Given the description of an element on the screen output the (x, y) to click on. 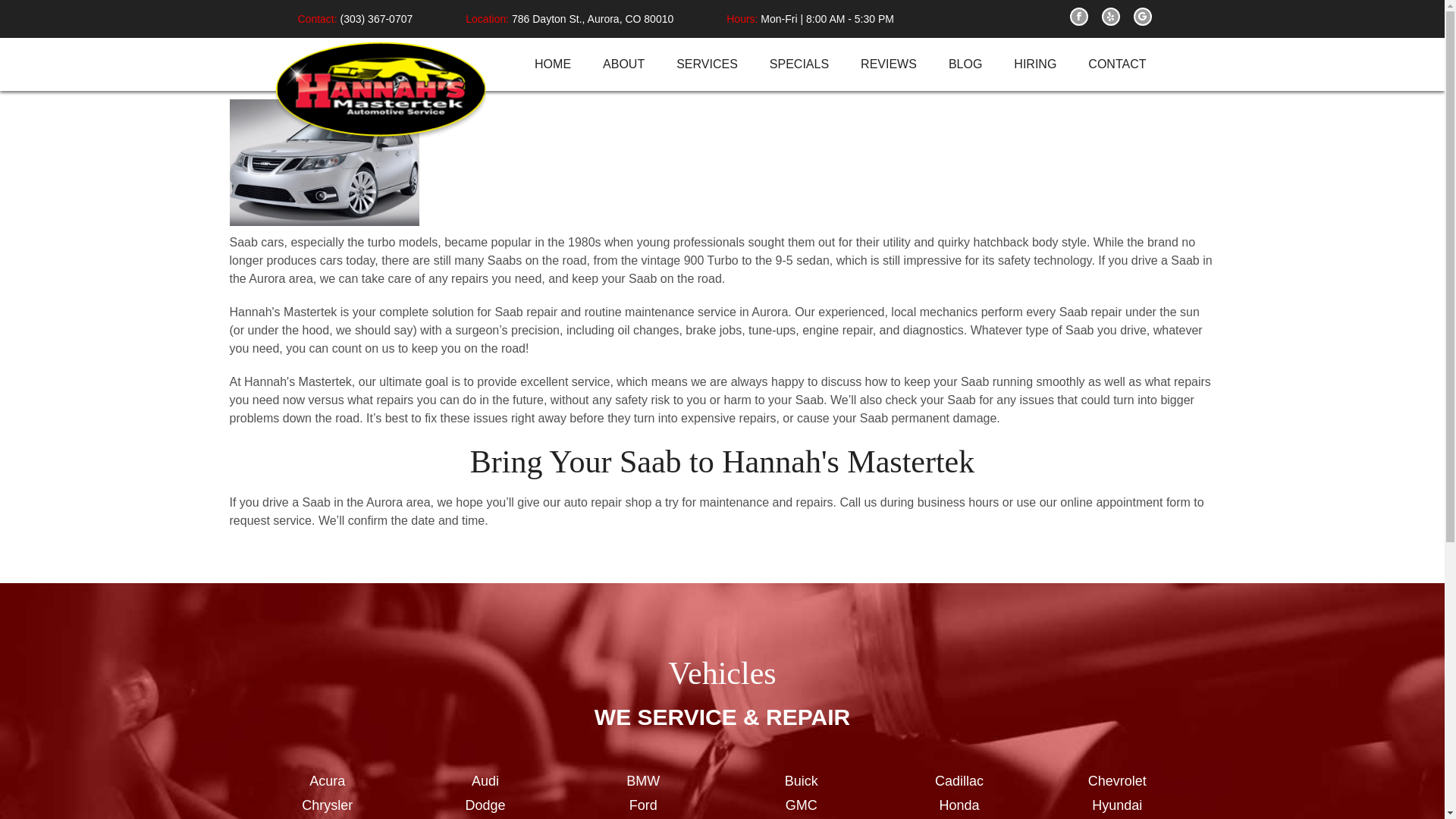
Dodge (485, 805)
CONTACT (1116, 64)
ABOUT (623, 64)
Buick (800, 781)
SPECIALS (799, 64)
786 Dayton St., Aurora, CO 80010 (592, 18)
Audi (485, 781)
REVIEWS (888, 64)
Acura (327, 781)
Chevrolet (1116, 781)
SERVICES (707, 64)
HOME (552, 64)
BLOG (965, 64)
Hyundai (1116, 805)
Chrysler (327, 805)
